Given the description of an element on the screen output the (x, y) to click on. 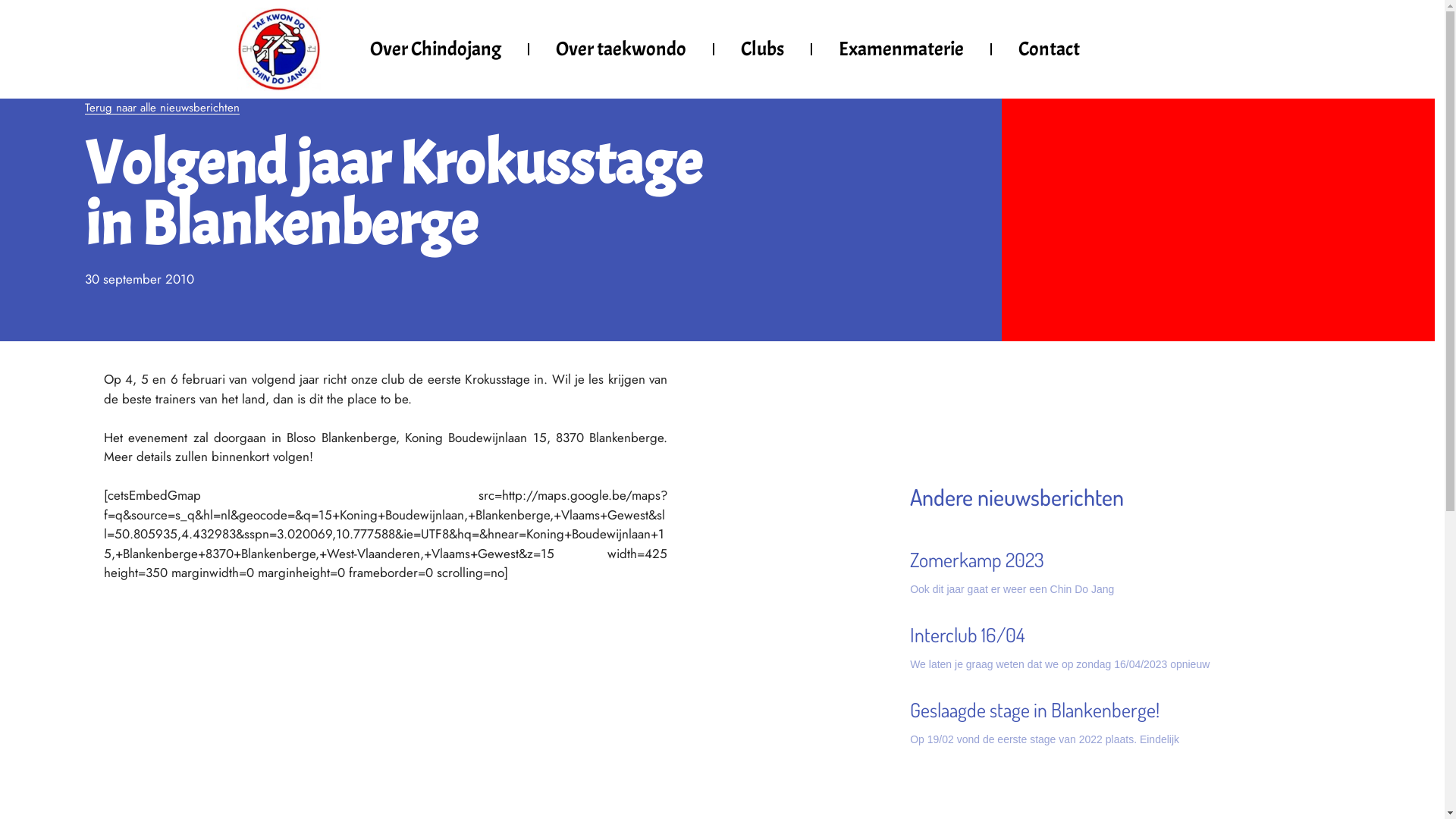
Terug naar alle nieuwsberichten Element type: text (161, 108)
Contact Element type: text (1048, 48)
Over Chindojang Element type: text (434, 48)
Over taekwondo Element type: text (620, 48)
Zomerkamp 2023 Element type: text (977, 558)
Clubs Element type: text (762, 48)
Examenmaterie Element type: text (900, 48)
Geslaagde stage in Blankenberge! Element type: text (1034, 708)
Interclub 16/04 Element type: text (967, 633)
